Given the description of an element on the screen output the (x, y) to click on. 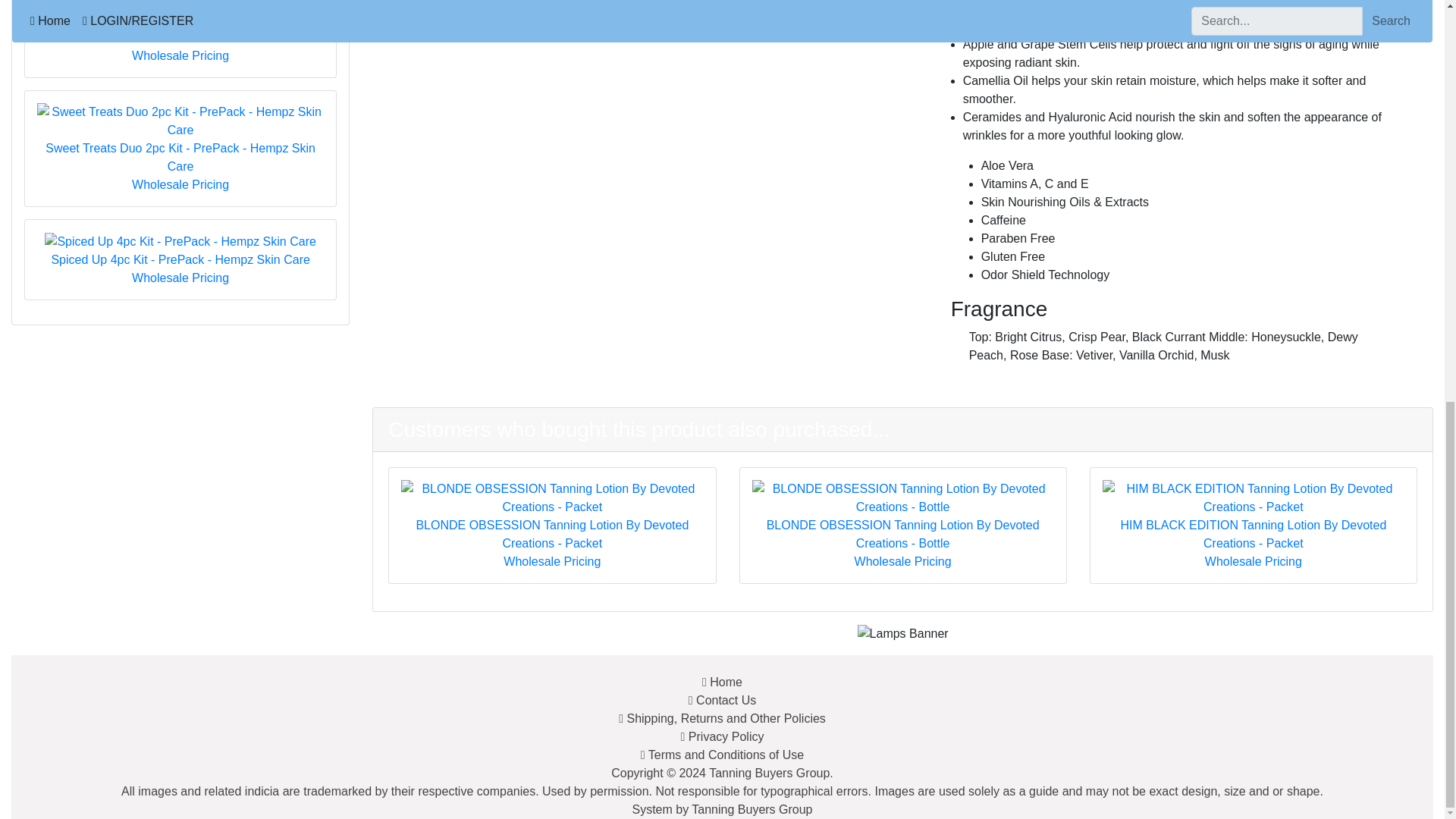
Bear Necessities 3pc Gift Set - PrePack - Hempz Skin Care (180, 23)
Sweet Treats Duo 2pc Kit - PrePack - Hempz Skin Care (180, 139)
Page 1 (1173, 264)
Bear Necessities 3pc Gift Set - PrePack - Hempz Skin Care (180, 23)
Spiced Up 4pc Kit - PrePack - Hempz Skin Care (180, 250)
Sweet Treats Duo 2pc Kit - PrePack - Hempz Skin Care (180, 139)
Wholesale Pricing (180, 55)
Bear Necessities 3pc Gift Set - PrePack - Hempz Skin Care (180, 5)
